Given the description of an element on the screen output the (x, y) to click on. 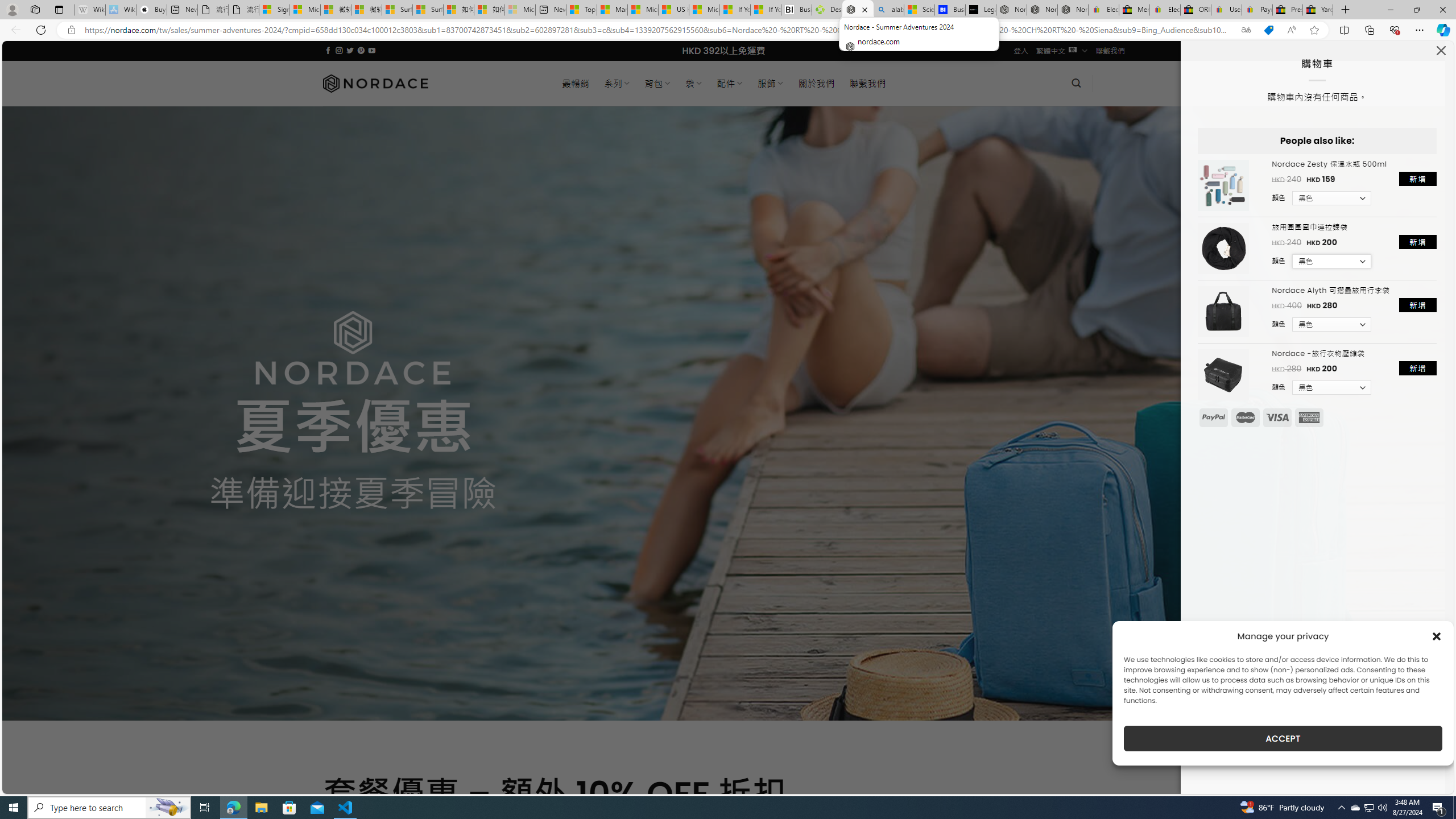
  0   (1115, 83)
Close (Esc) (1440, 53)
Follow on Pinterest (360, 50)
